Given the description of an element on the screen output the (x, y) to click on. 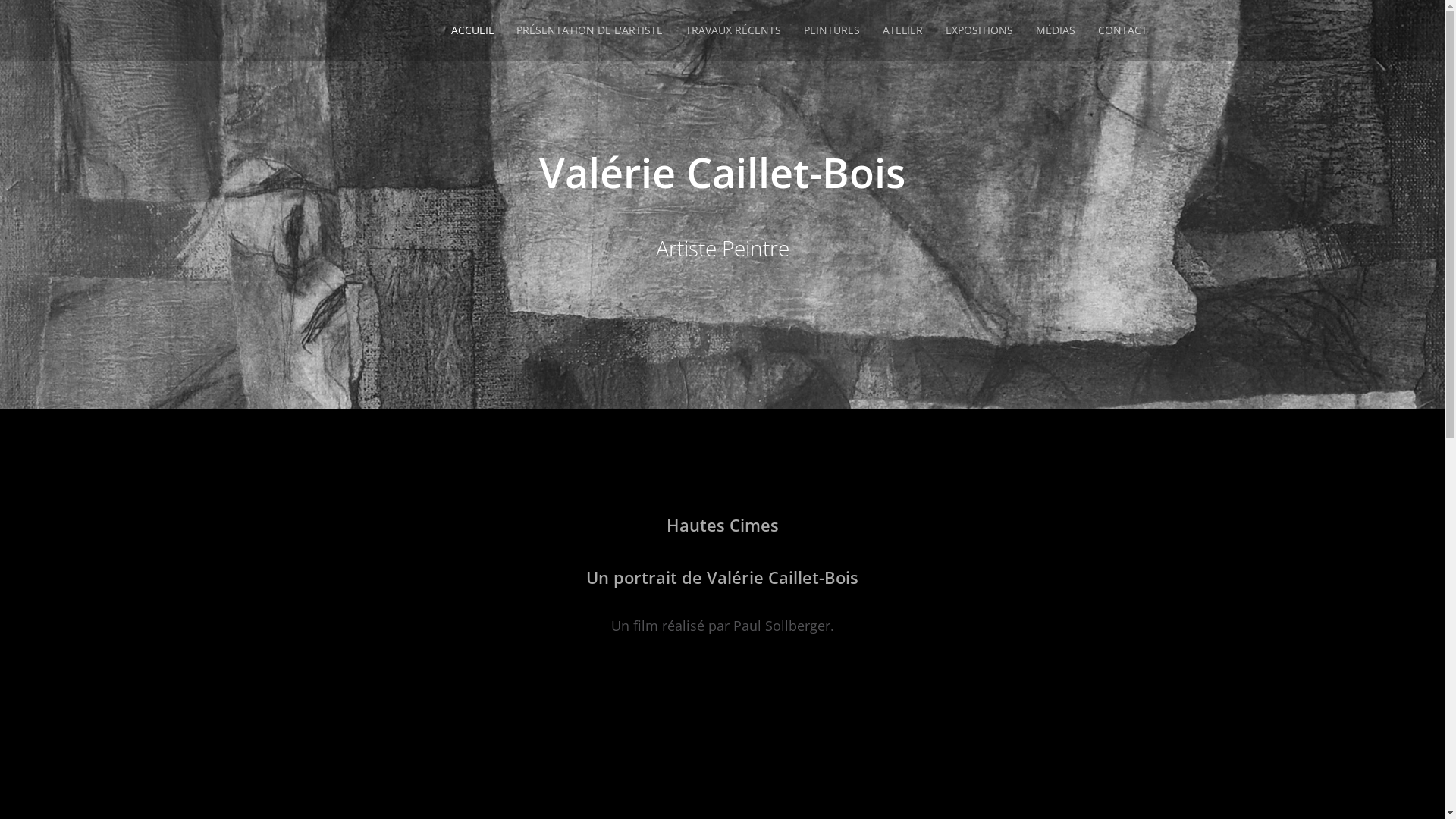
CONTACT Element type: text (1121, 30)
PEINTURES Element type: text (830, 30)
EXPOSITIONS Element type: text (979, 30)
ATELIER Element type: text (901, 30)
ACCUEIL Element type: text (472, 30)
